Given the description of an element on the screen output the (x, y) to click on. 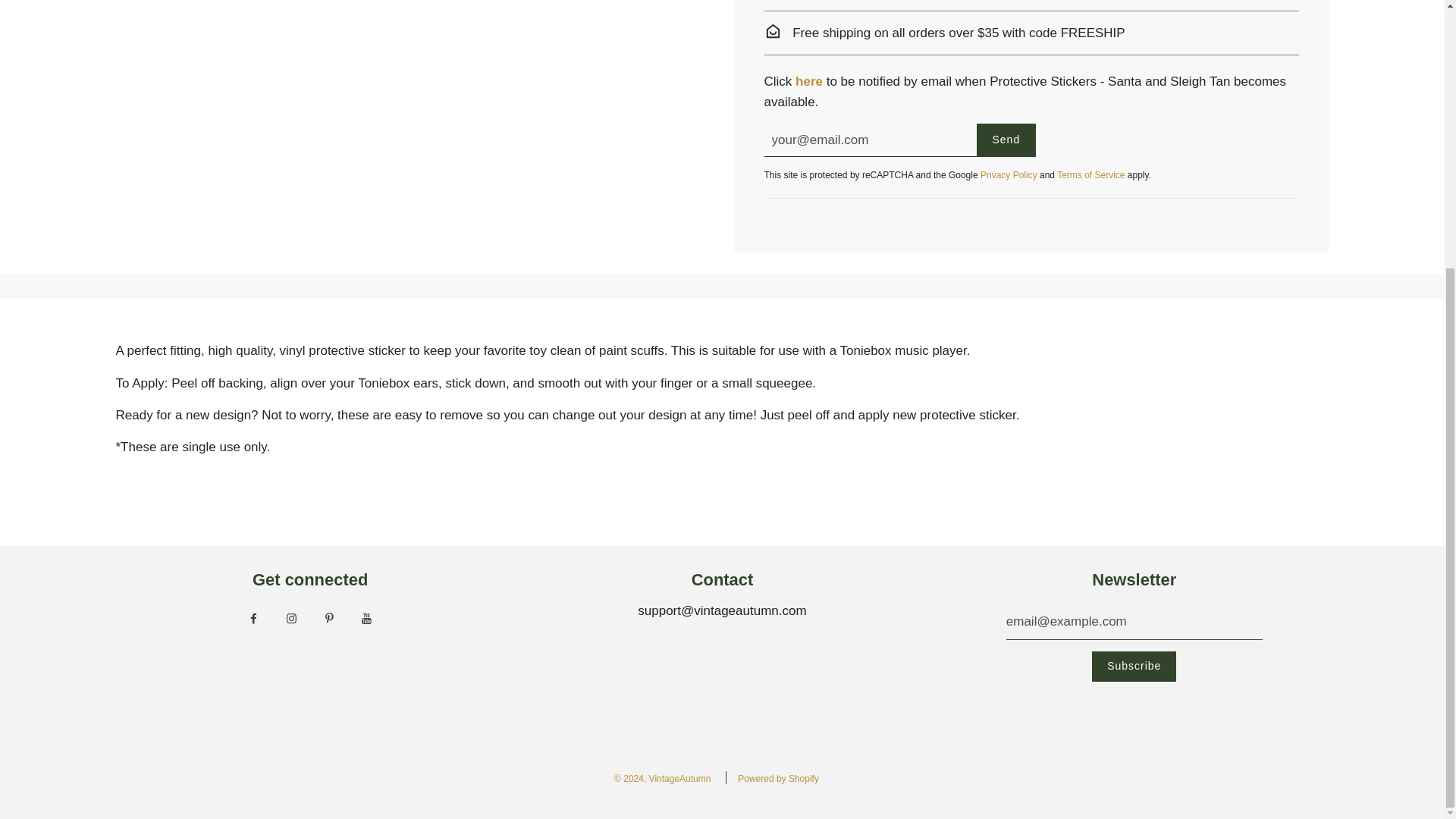
Subscribe (1134, 666)
Terms of Service (1090, 174)
Send (1006, 140)
Privacy Policy (1007, 174)
Send (1006, 140)
here (808, 81)
